Given the description of an element on the screen output the (x, y) to click on. 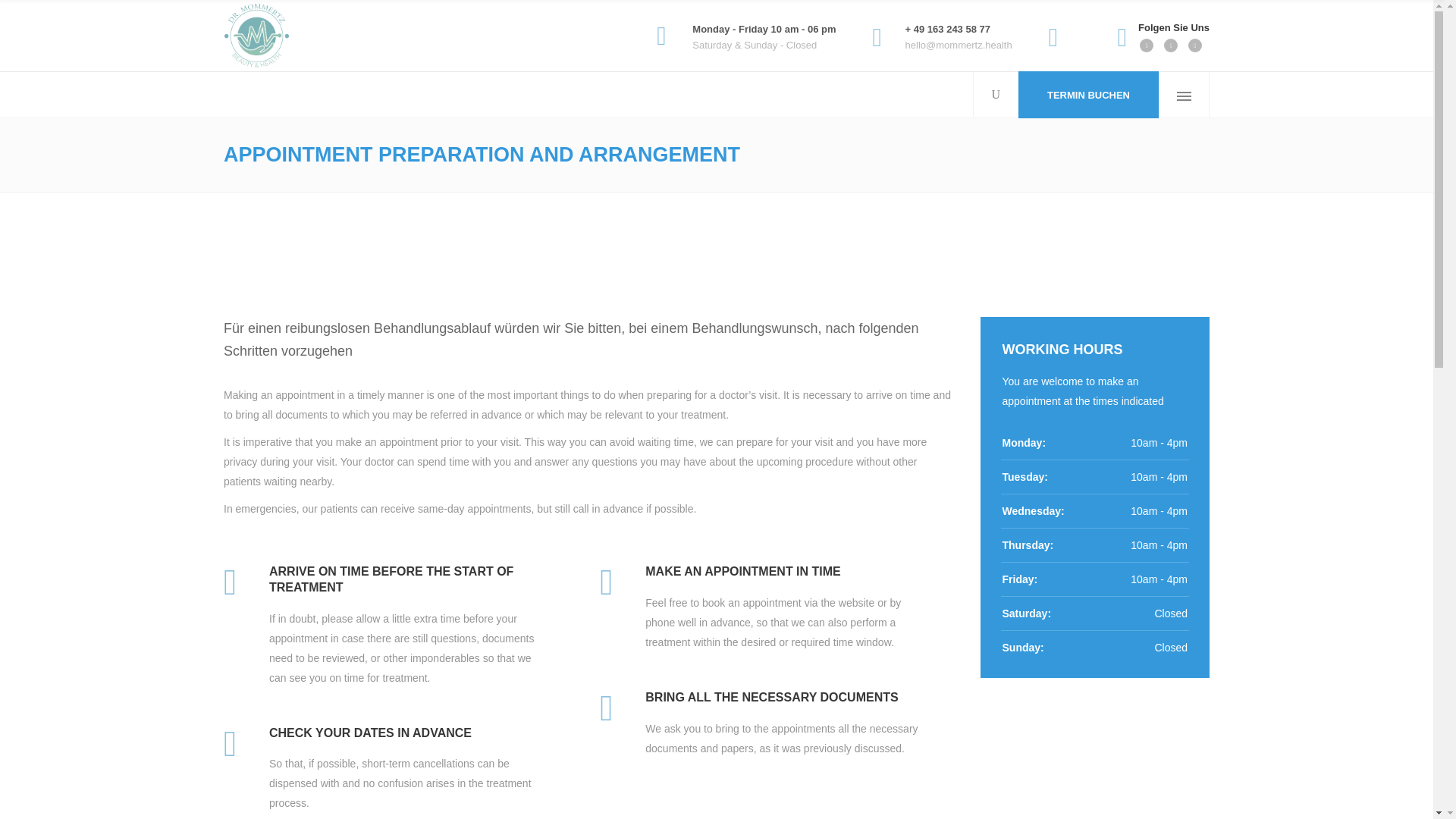
Search (968, 142)
Search (1121, 25)
TERMIN BUCHEN (1087, 94)
